Given the description of an element on the screen output the (x, y) to click on. 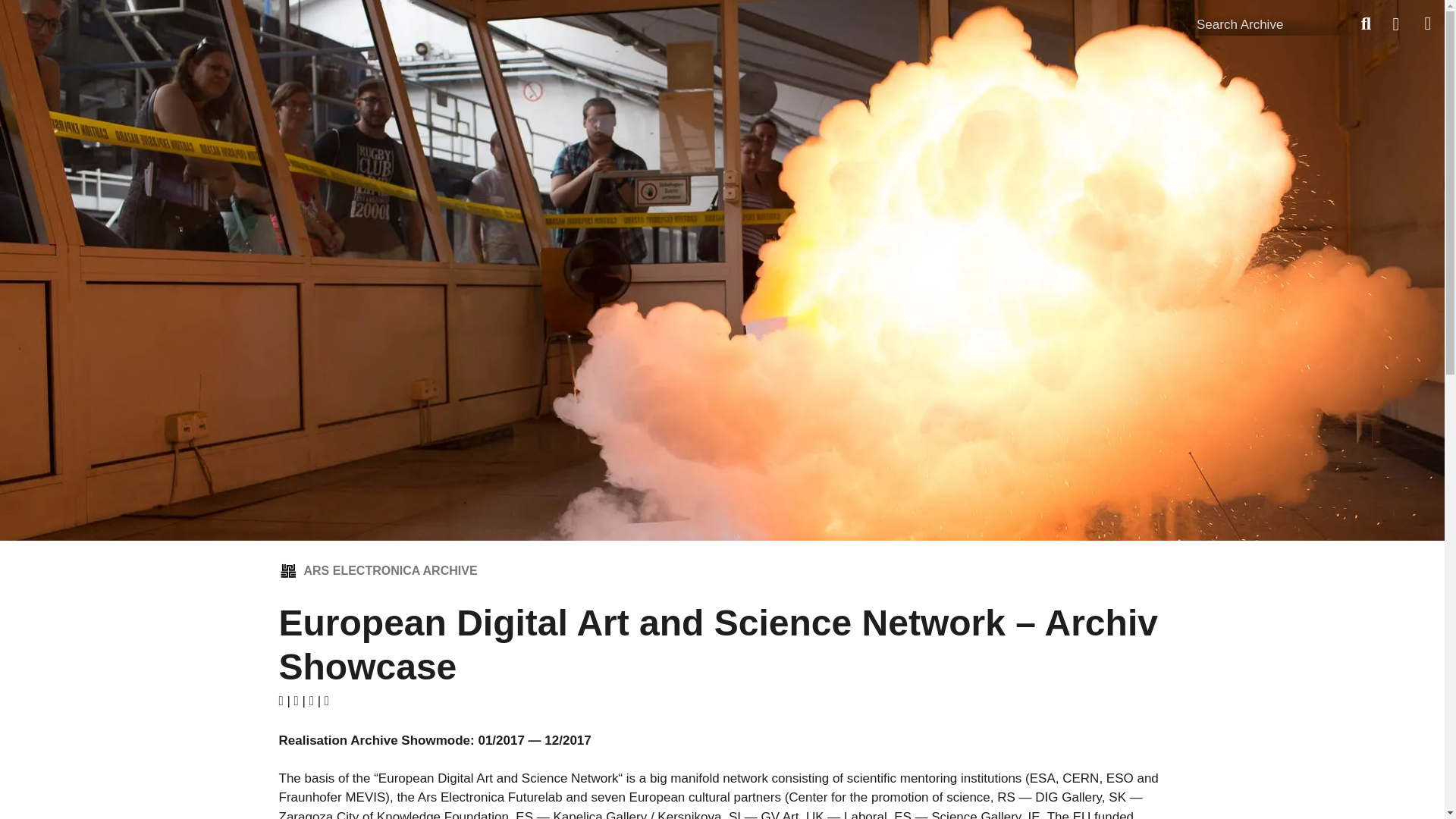
Ars Electronica (106, 20)
